Given the description of an element on the screen output the (x, y) to click on. 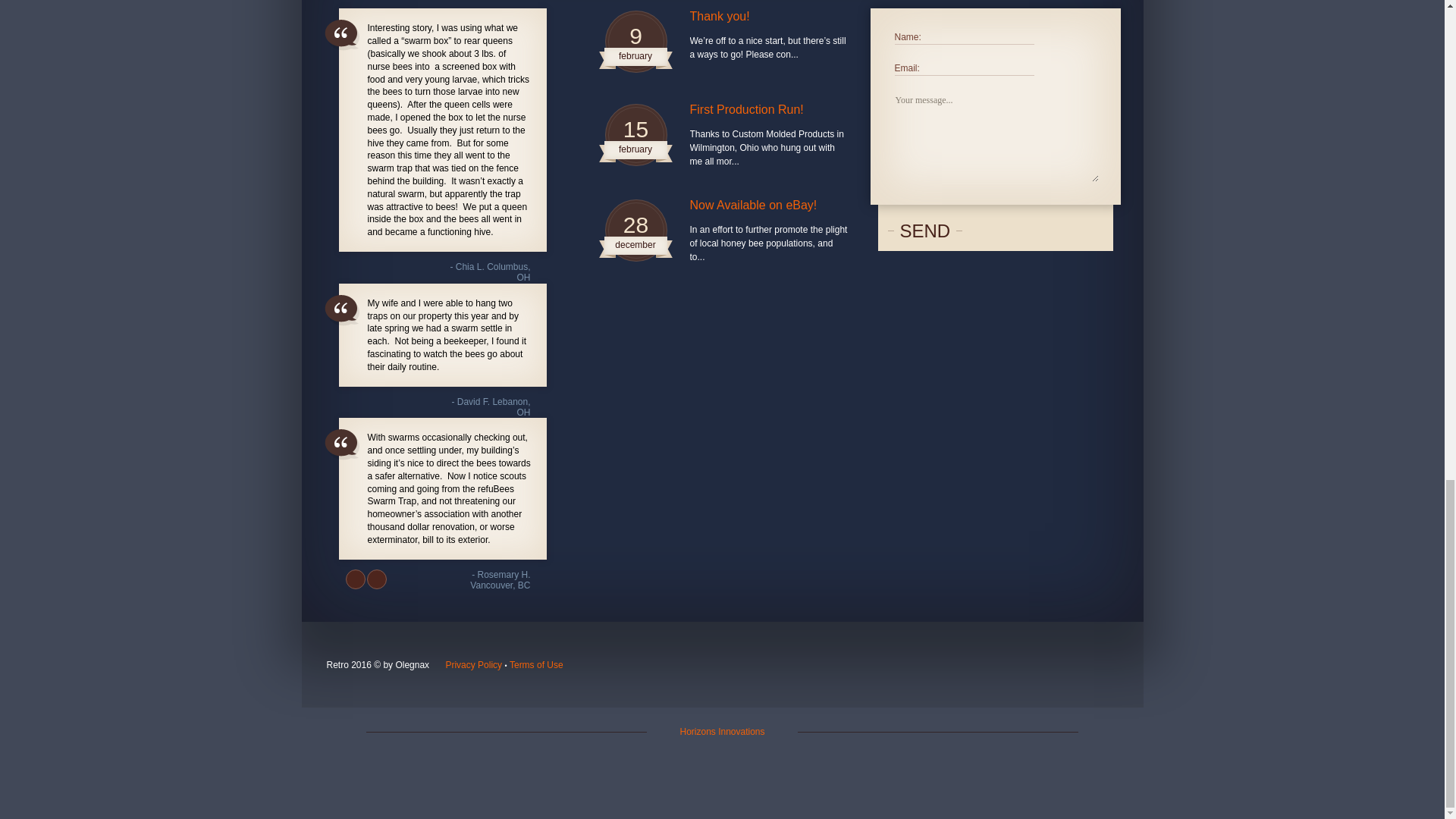
SEND (925, 231)
Thank you! (768, 16)
Next (376, 578)
Terms of Use (536, 665)
Privacy Policy (473, 665)
Now Available on eBay! (768, 205)
Now Available on eBay! (768, 205)
Previous (355, 578)
First Production Run! (768, 109)
Horizons Innovations (721, 731)
